Given the description of an element on the screen output the (x, y) to click on. 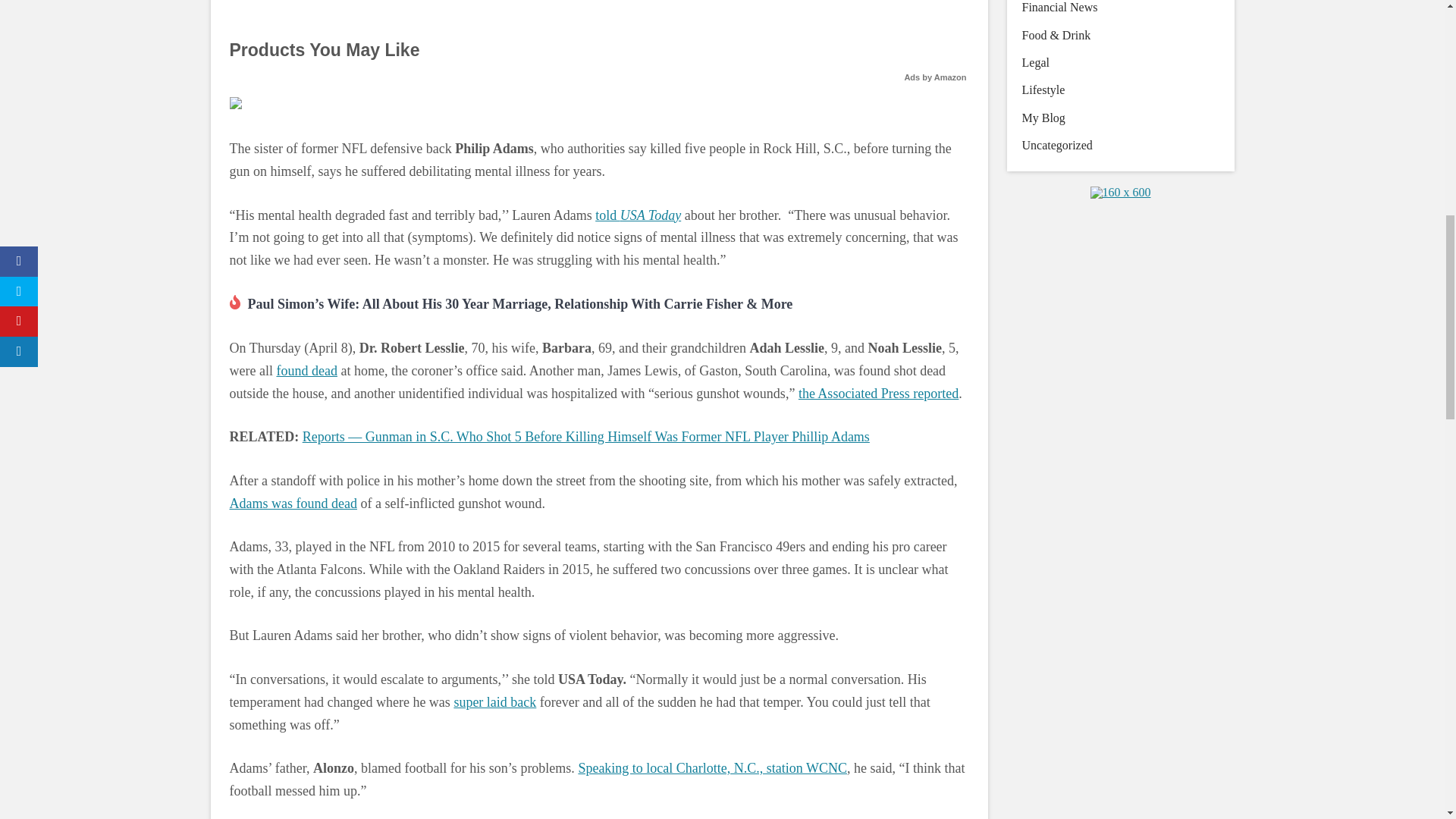
found dead (306, 370)
the Associated Press reported (877, 393)
told USA Today (638, 215)
Ads by Amazon (935, 76)
